Given the description of an element on the screen output the (x, y) to click on. 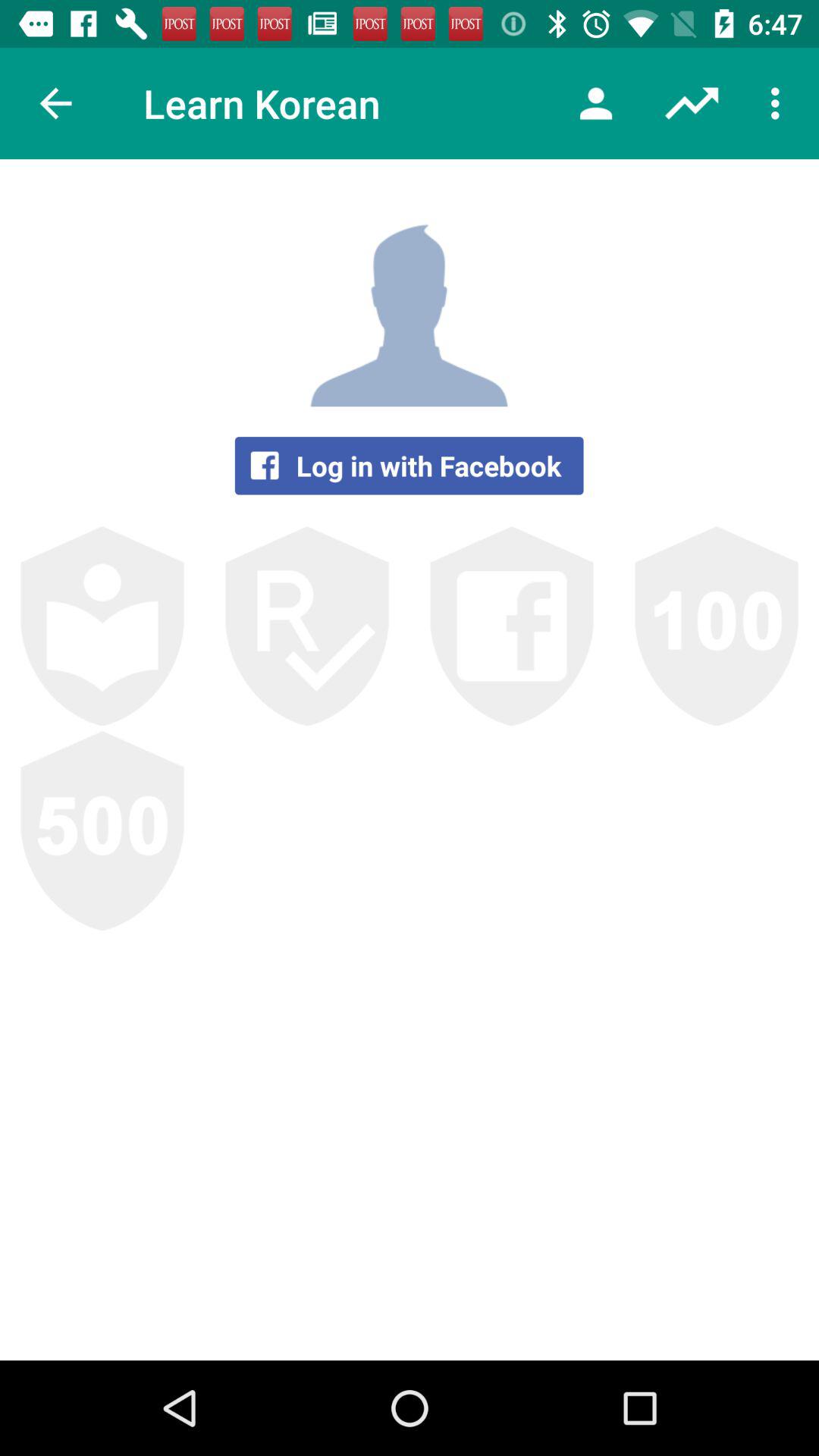
tap the icon next to the learn korean item (595, 103)
